Given the description of an element on the screen output the (x, y) to click on. 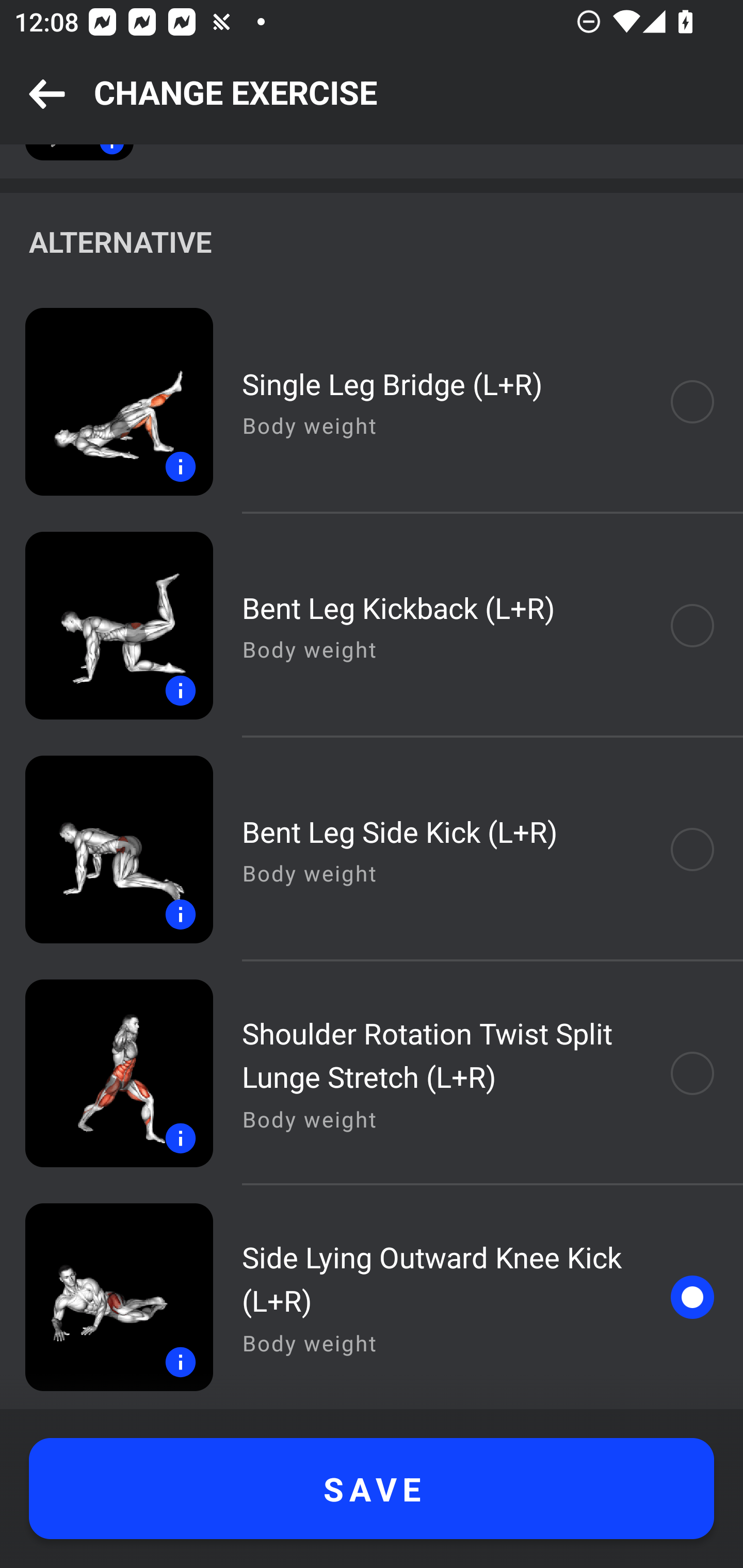
Navigation icon (46, 94)
details Single Leg Bridge (L+R) Body weight (371, 402)
details (106, 402)
details Bent Leg Kickback (L+R) Body weight (371, 625)
details (106, 625)
details Bent Leg Side Kick (L+R) Body weight (371, 848)
details (106, 848)
details (106, 1073)
details (106, 1297)
SAVE (371, 1488)
